Given the description of an element on the screen output the (x, y) to click on. 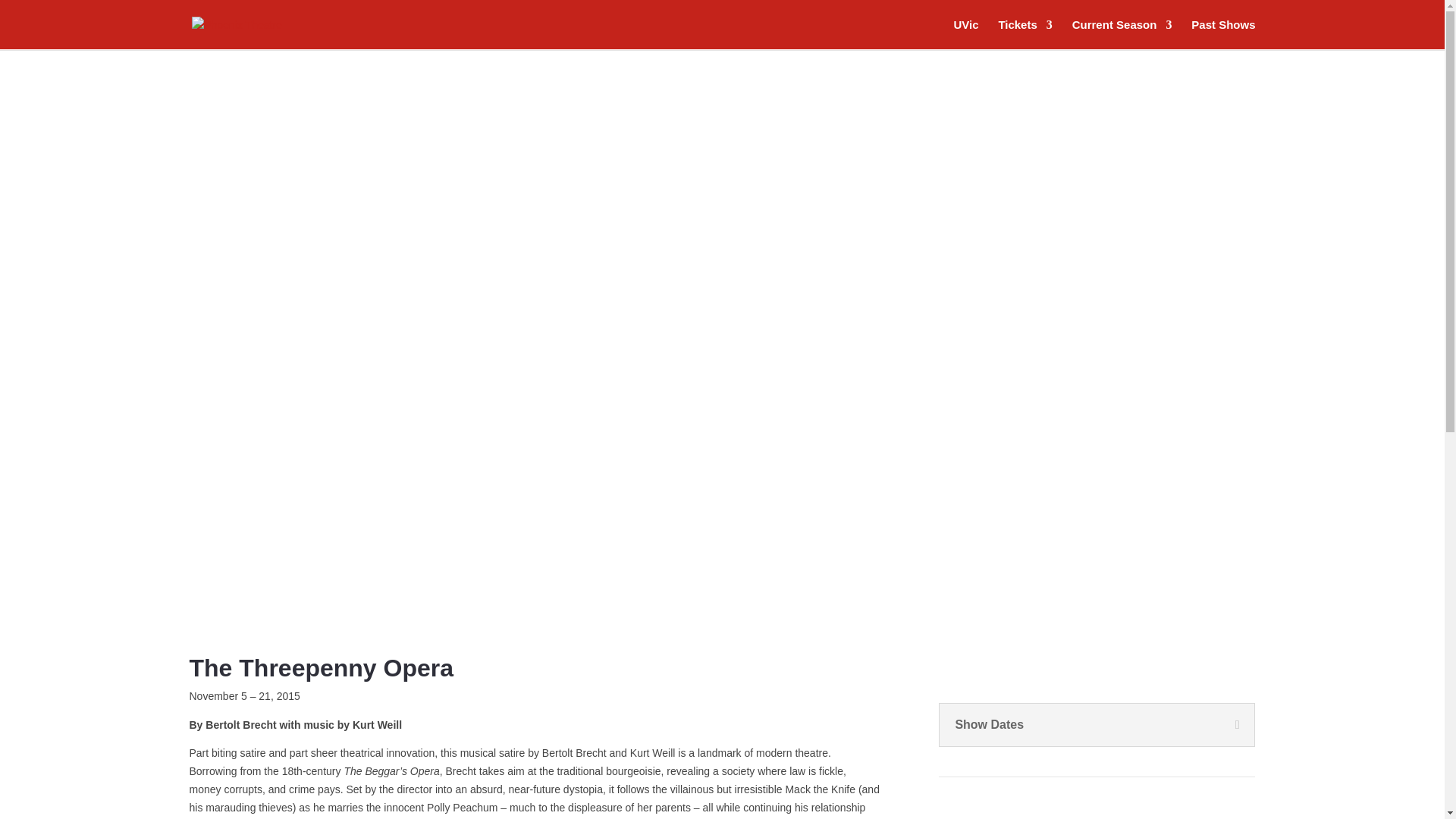
Current Season (1121, 34)
Tickets (1024, 34)
Past Shows (1223, 34)
UVic (965, 34)
